Given the description of an element on the screen output the (x, y) to click on. 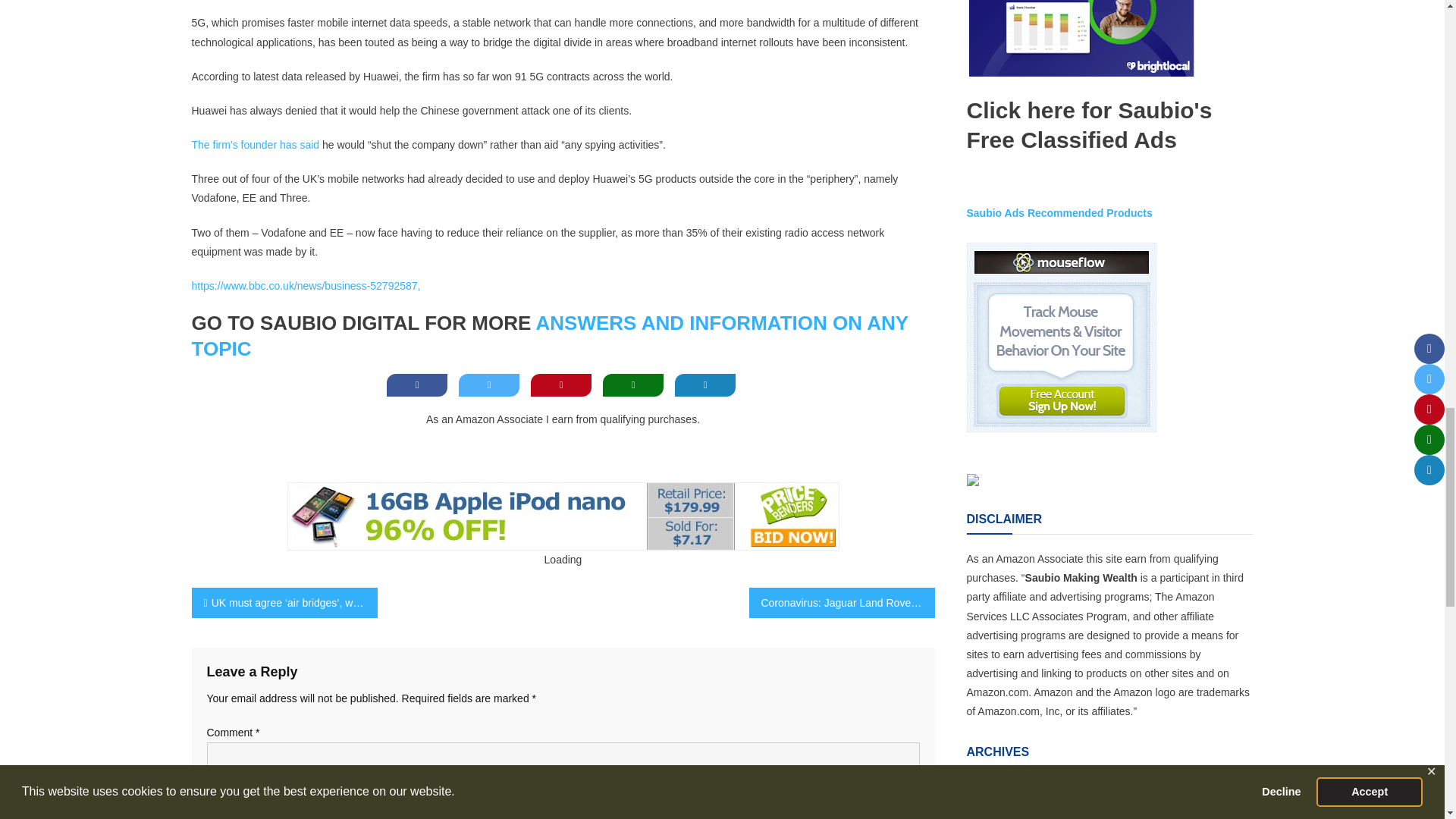
ANSWERS AND INFORMATION ON ANY TOPIC (548, 336)
